Given the description of an element on the screen output the (x, y) to click on. 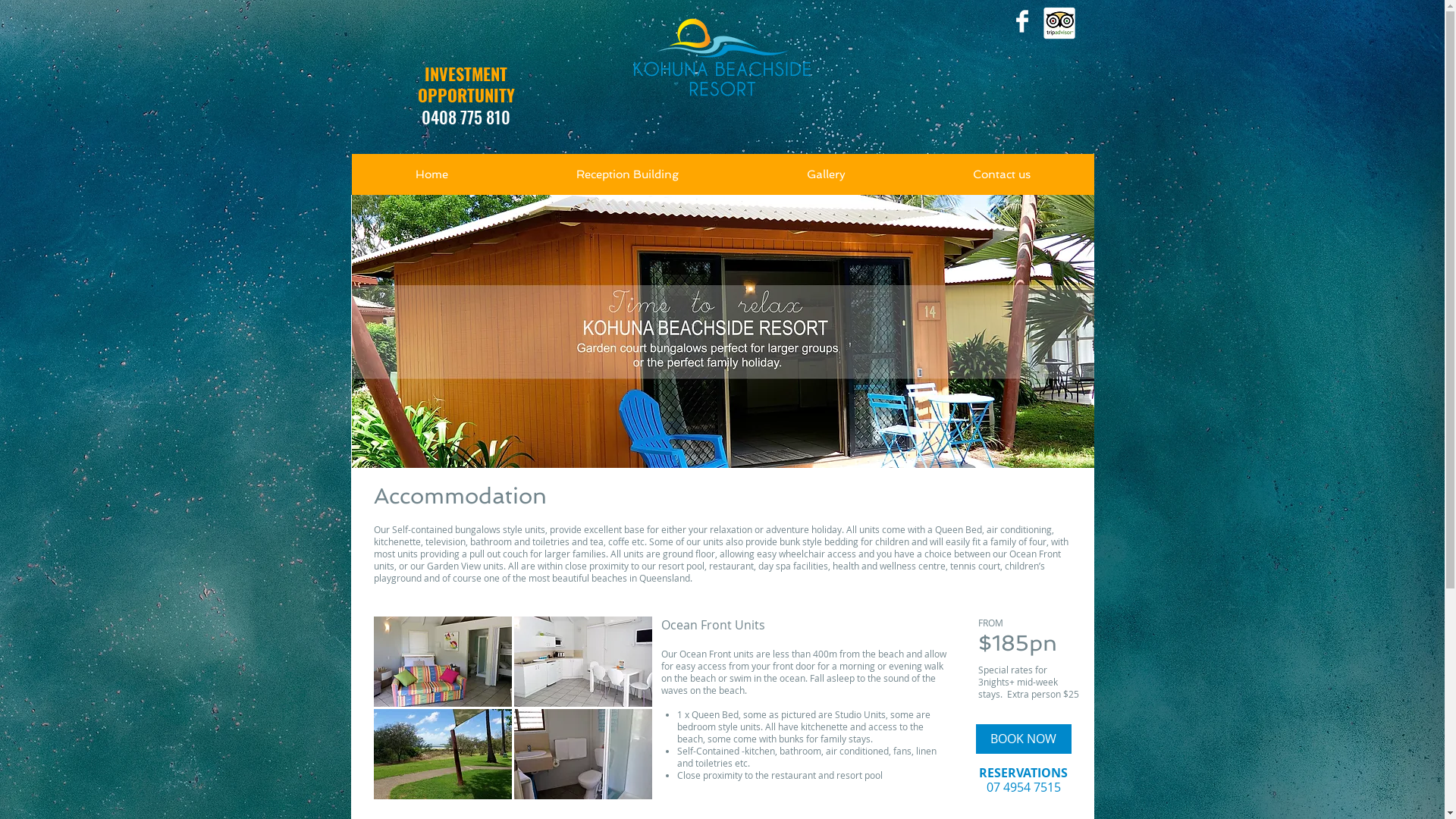
Contact us Element type: text (1000, 178)
Reception Building Element type: text (627, 178)
BOOK NOW Element type: text (1022, 738)
Home Element type: text (431, 178)
Gallery Element type: text (826, 178)
